Given the description of an element on the screen output the (x, y) to click on. 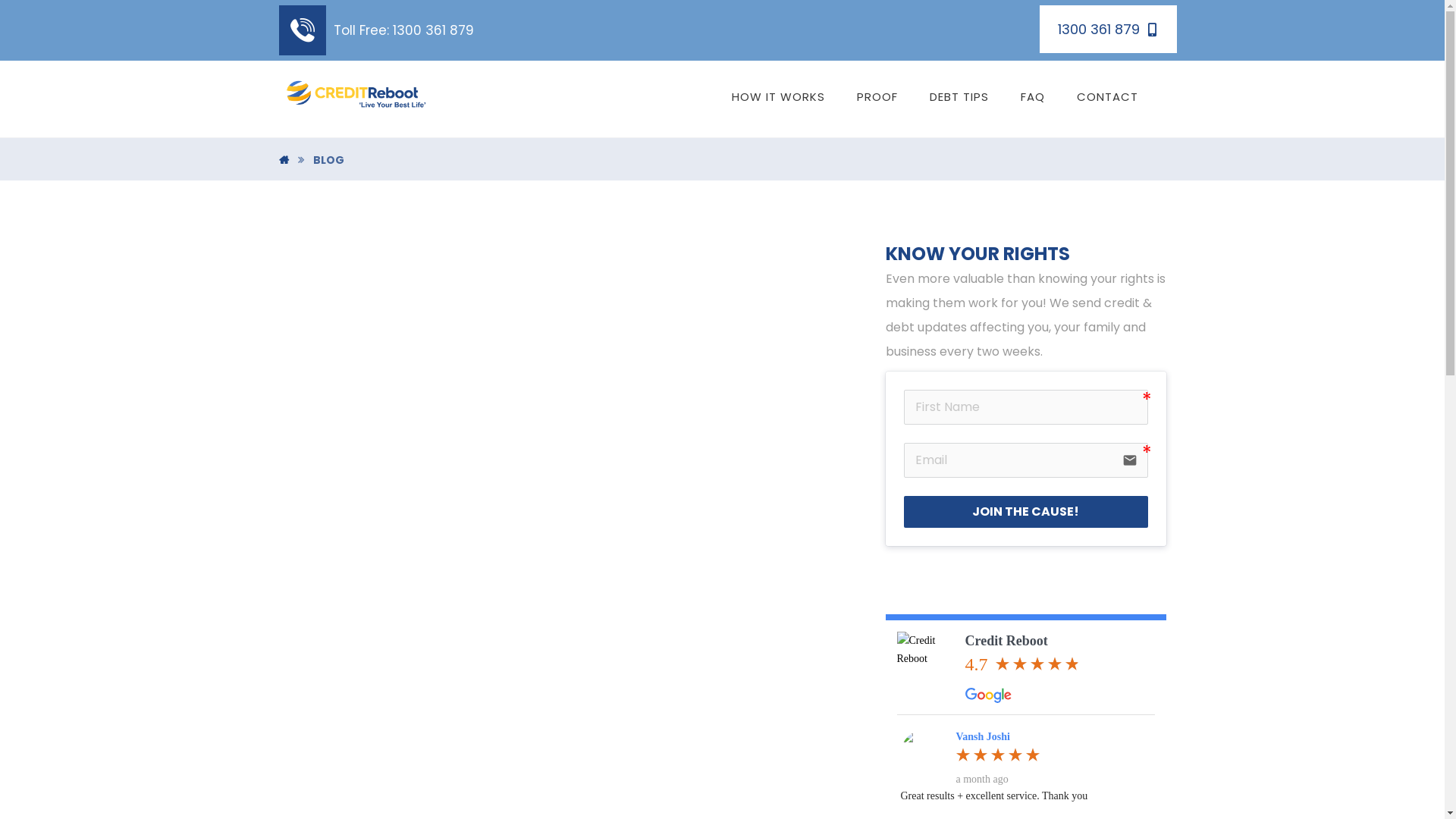
Home page Element type: hover (283, 159)
Toll Free: 1300 361 879 Element type: text (376, 28)
HOW IT WORKS Element type: text (778, 96)
PROOF Element type: text (877, 96)
Vansh Joshi Element type: hover (923, 752)
BLOG Element type: text (327, 159)
Vansh Joshi Element type: text (982, 736)
CONTACT Element type: text (1107, 96)
1300 361 879 Element type: text (1107, 29)
FAQ Element type: text (1032, 96)
Credit Reboot Element type: hover (926, 661)
Credit Reboot Element type: text (1005, 640)
JOIN THE CAUSE! Element type: text (1025, 511)
DEBT TIPS Element type: text (959, 96)
